Given the description of an element on the screen output the (x, y) to click on. 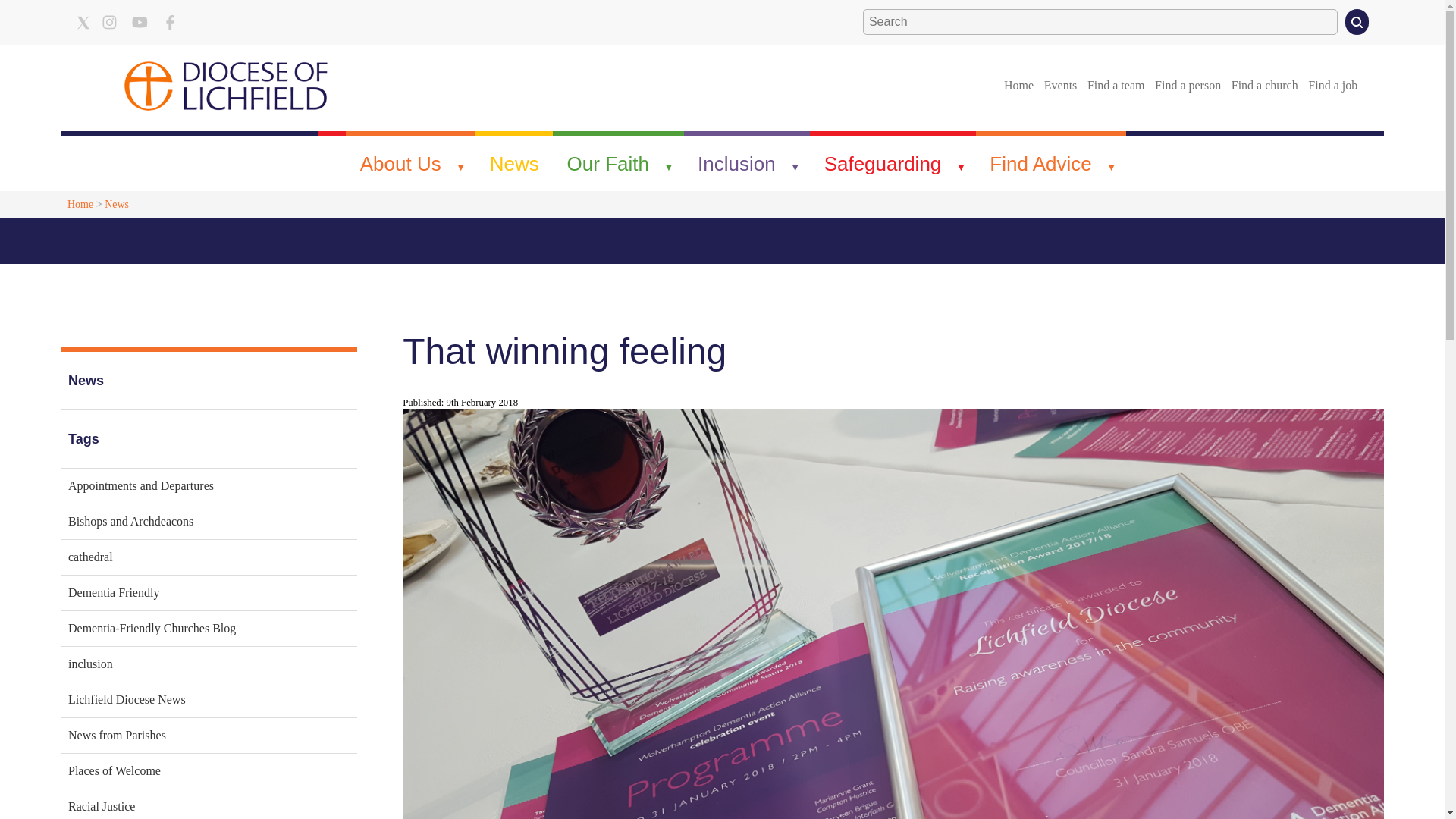
Home (1018, 84)
Find a team (1115, 84)
Find a church (1264, 84)
Logo (226, 85)
